Given the description of an element on the screen output the (x, y) to click on. 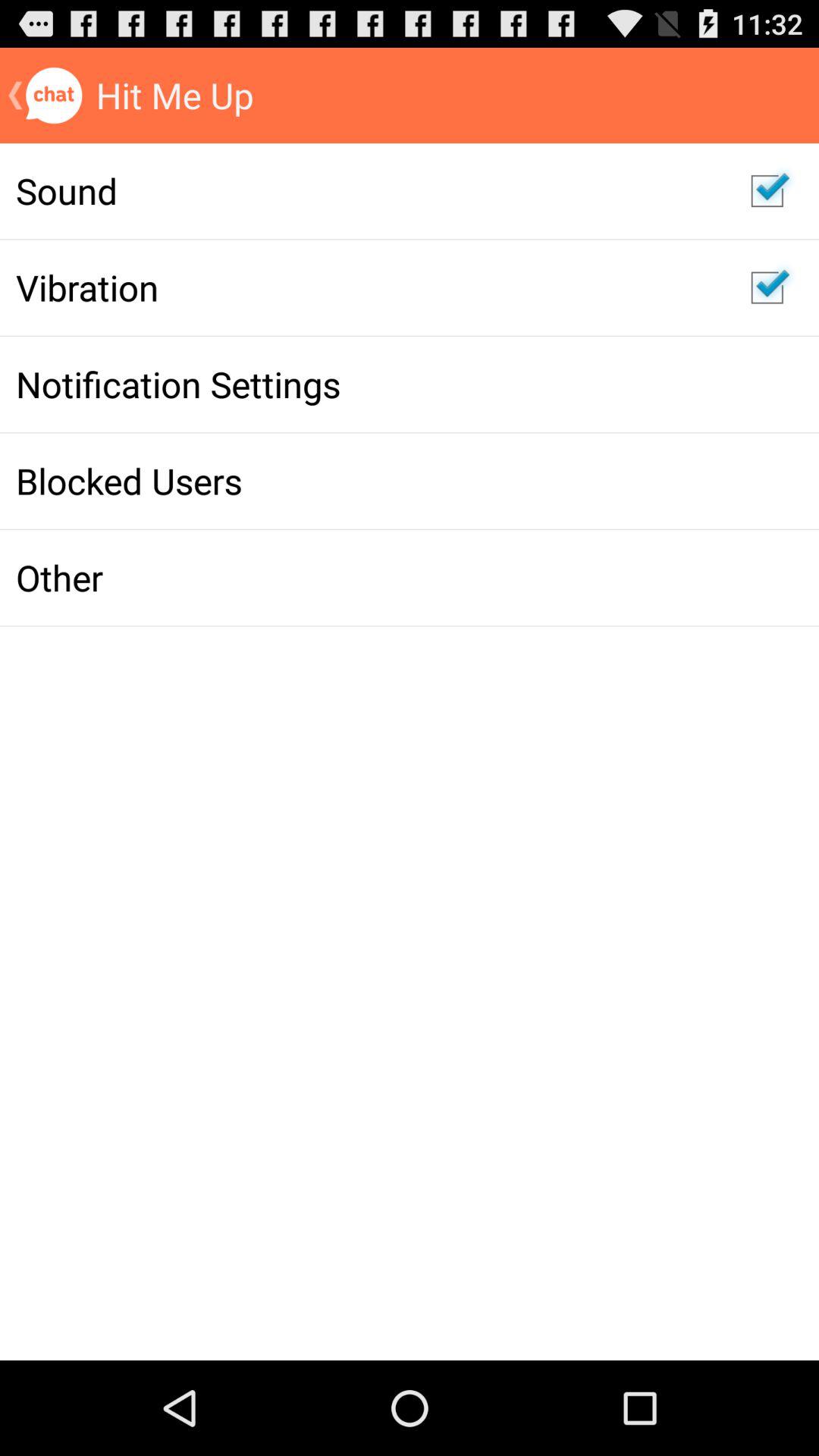
flip to the vibration item (367, 287)
